Given the description of an element on the screen output the (x, y) to click on. 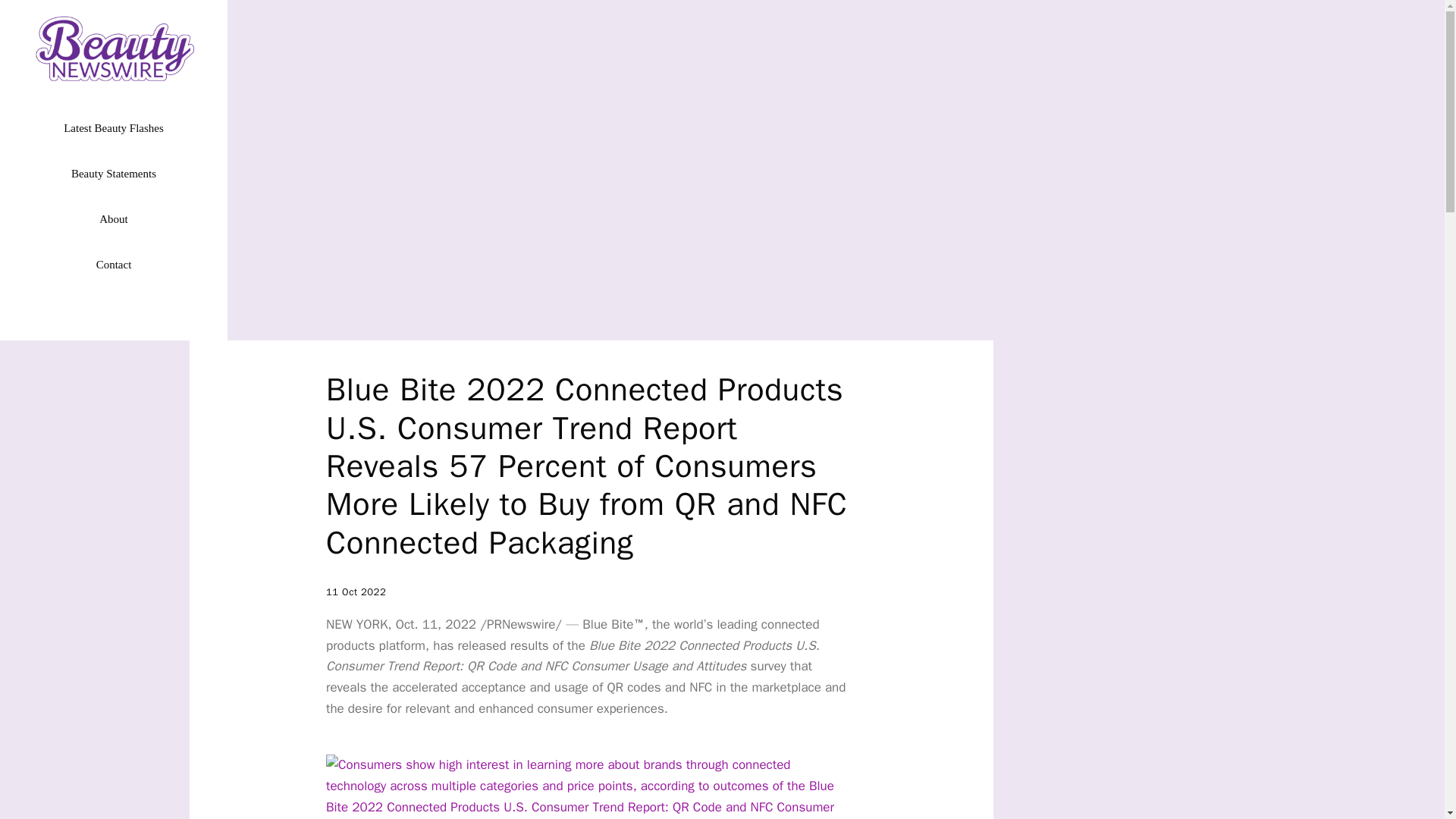
Contact (113, 264)
Beauty Statements (113, 173)
Latest Beauty Flashes (113, 127)
About (113, 218)
